Given the description of an element on the screen output the (x, y) to click on. 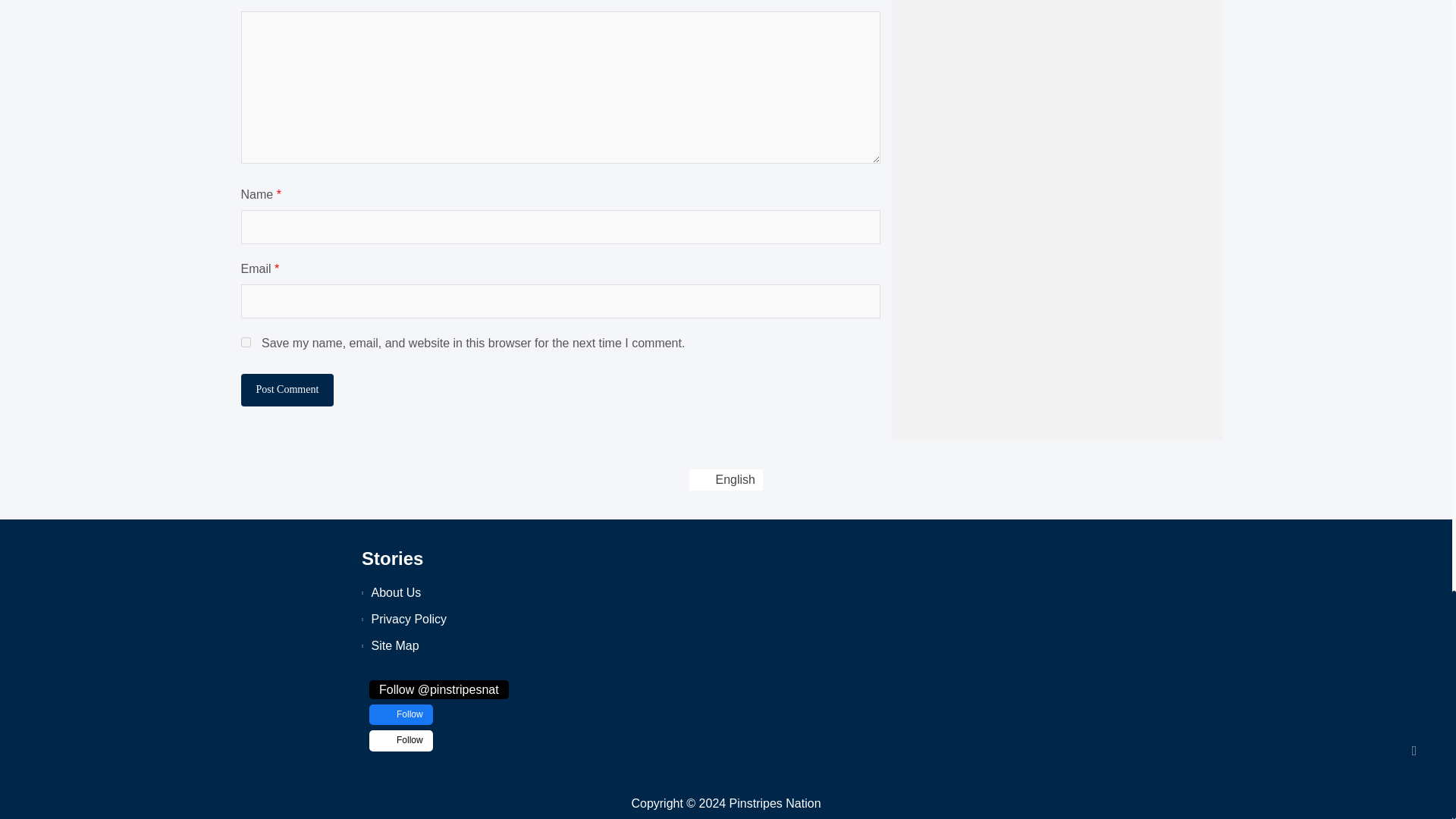
yes (245, 342)
Post Comment (287, 389)
